Given the description of an element on the screen output the (x, y) to click on. 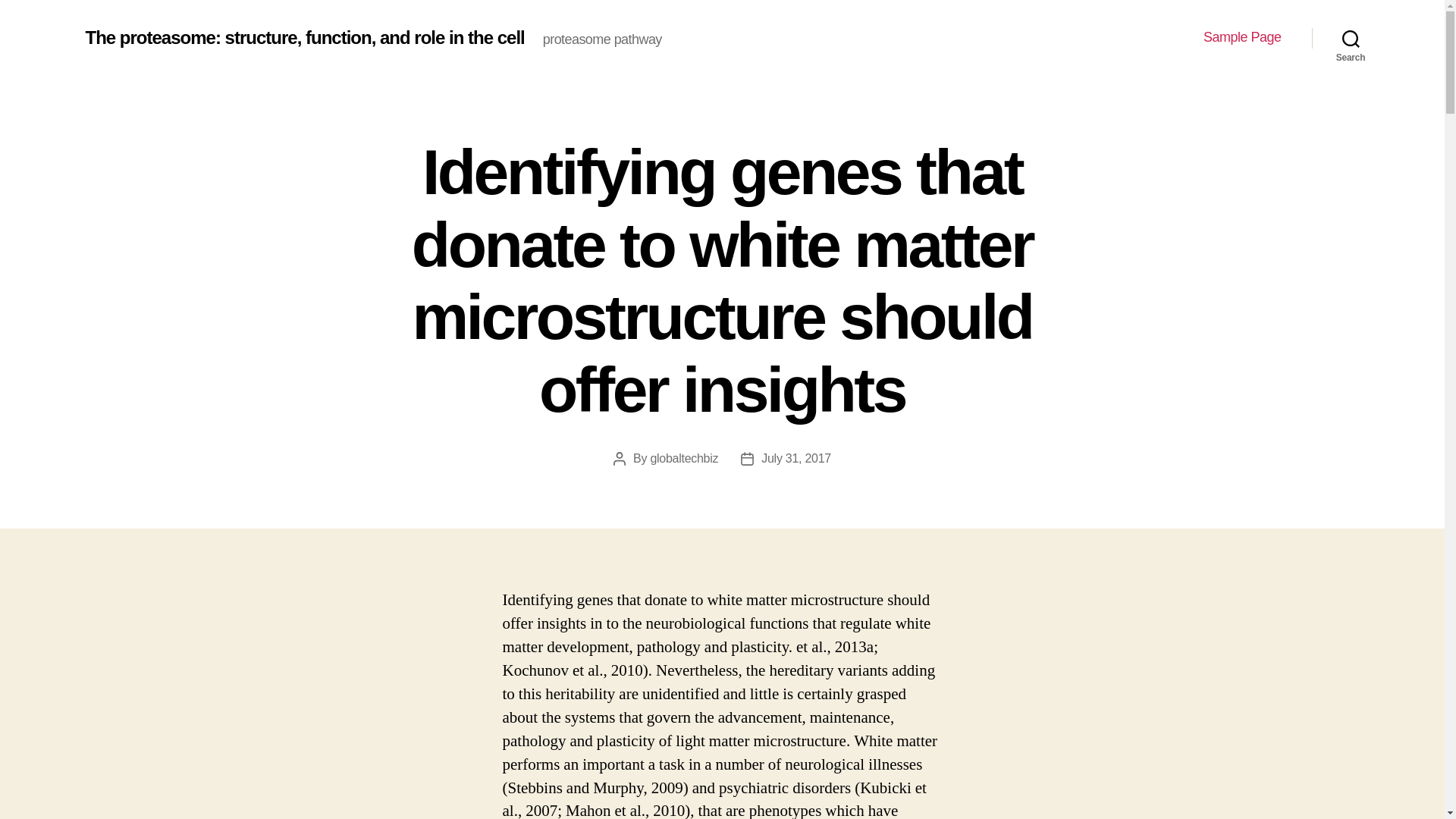
globaltechbiz (683, 458)
July 31, 2017 (796, 458)
The proteasome: structure, function, and role in the cell (304, 37)
Sample Page (1242, 37)
Search (1350, 37)
